Given the description of an element on the screen output the (x, y) to click on. 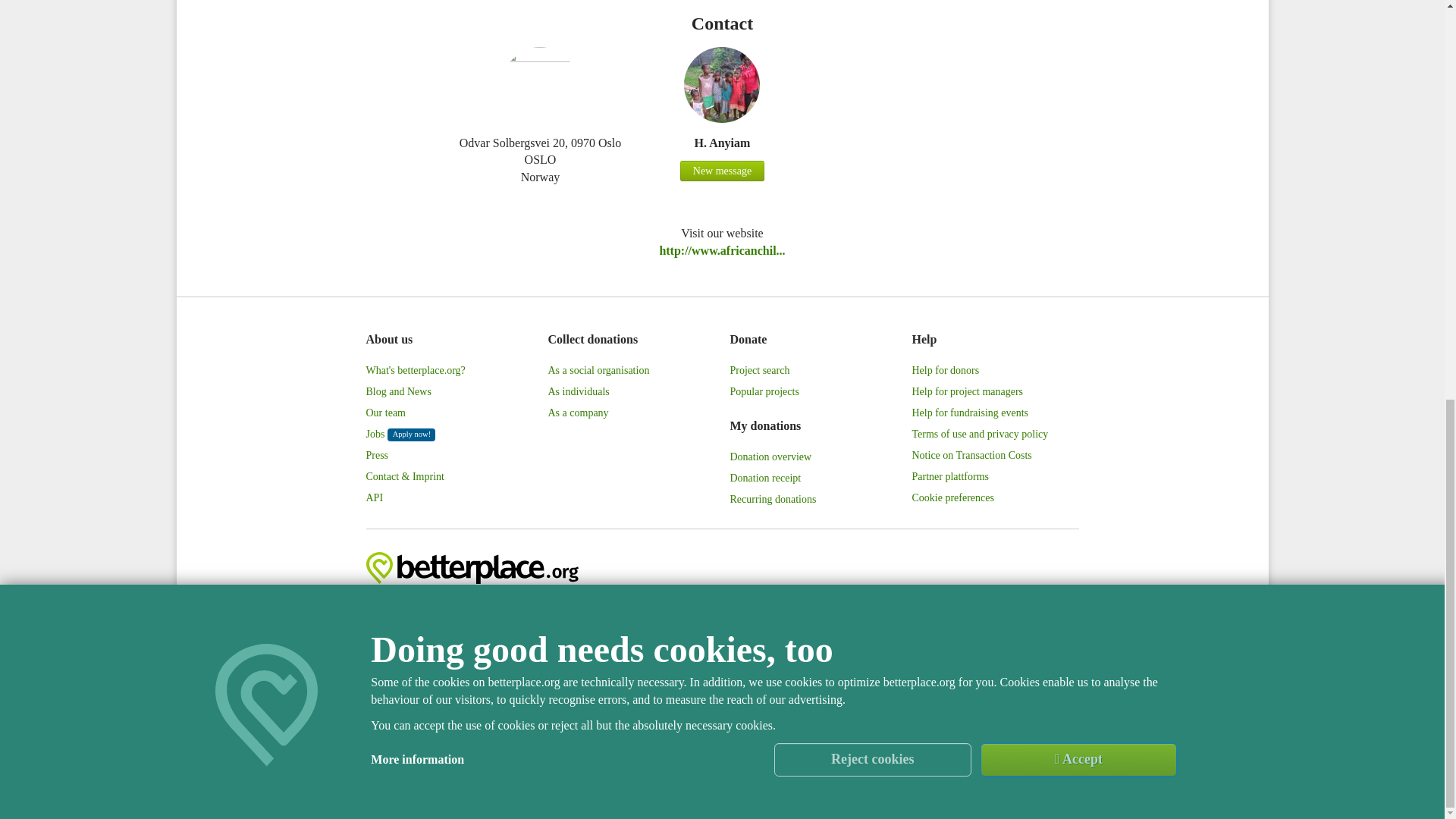
Deutsch (1058, 604)
What's betterplace.org? (414, 370)
Terms of use and privacy policy (979, 434)
Partner plattforms (949, 476)
Notice on Transaction Costs (970, 455)
Donation receipt (764, 477)
Recurring donations (772, 499)
Instagram (951, 606)
Help for project managers (967, 391)
Popular projects (763, 391)
